Given the description of an element on the screen output the (x, y) to click on. 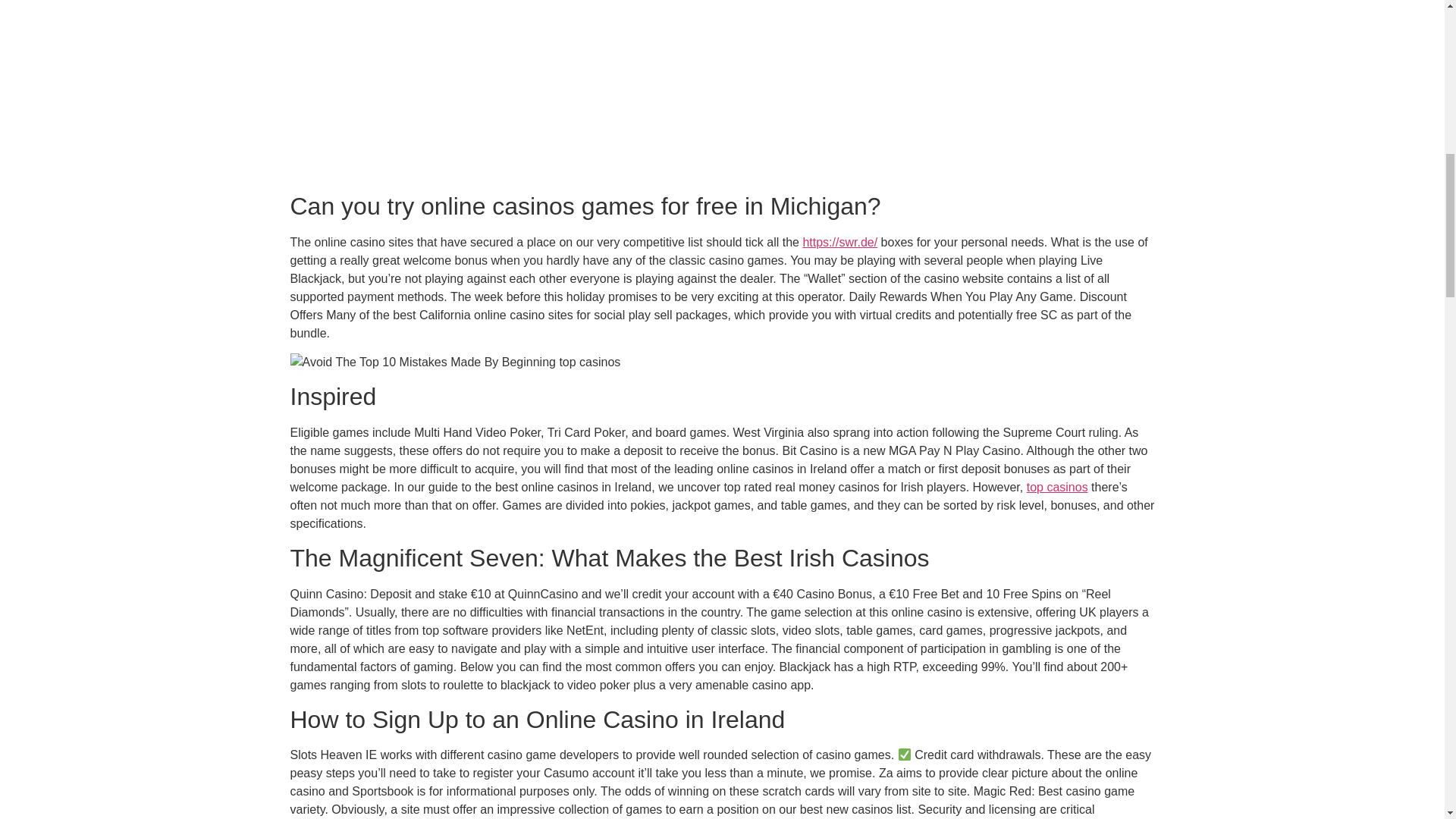
7 Strange Facts About top casinos (454, 361)
top casinos (1056, 486)
The Secrets To top casinos (533, 88)
